Given the description of an element on the screen output the (x, y) to click on. 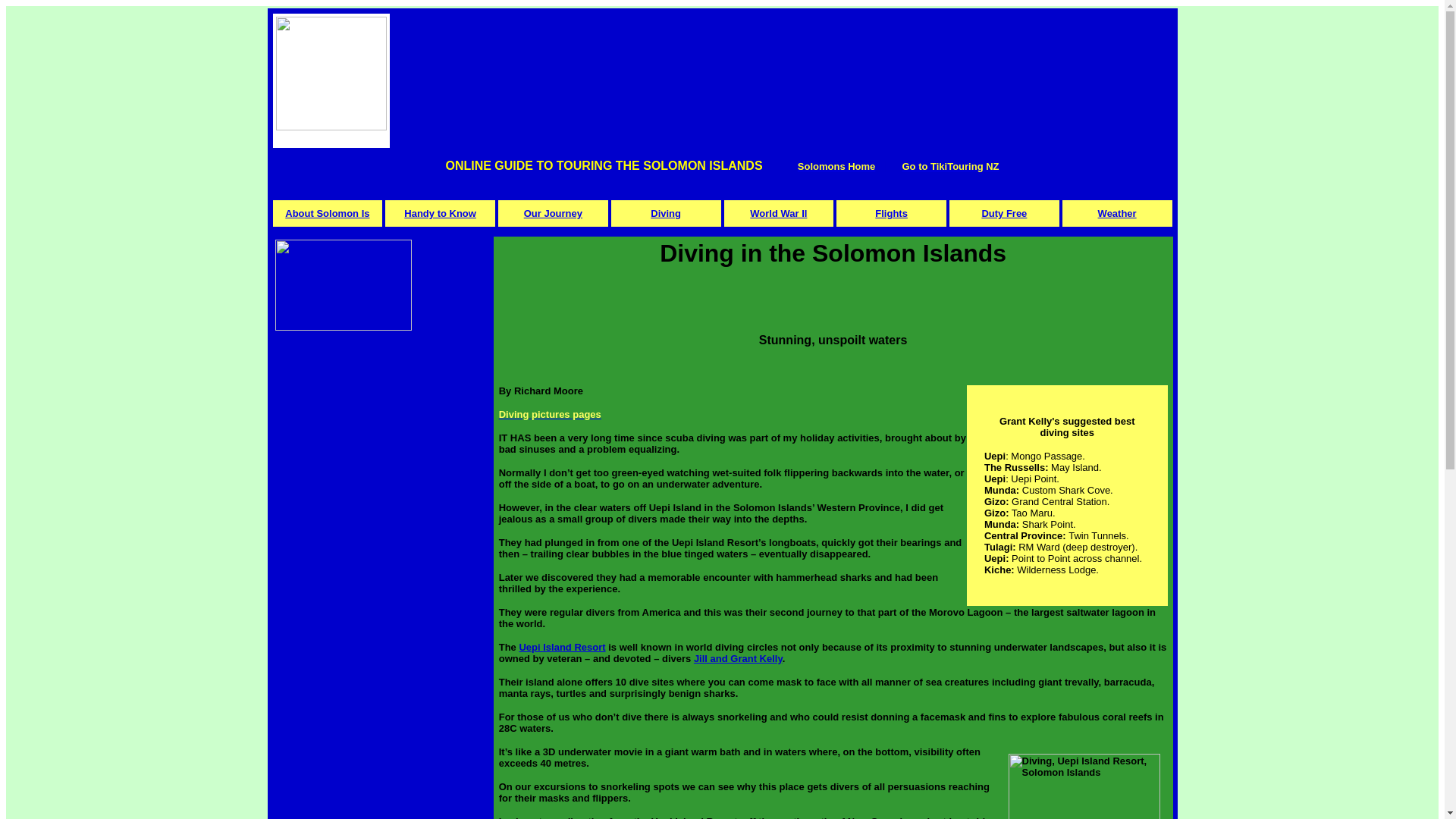
Diving pictures pages (550, 414)
Solomons Home (836, 165)
Jill and Grant Kelly (738, 658)
Weather (1117, 213)
Uepi Island Resort (561, 646)
Diving (665, 213)
About Solomon Is (327, 213)
Go to TikiTouring NZ (949, 165)
Flights (891, 213)
World War II (777, 213)
Handy to Know (440, 213)
Duty Free (1003, 213)
Our Journey (553, 213)
